Given the description of an element on the screen output the (x, y) to click on. 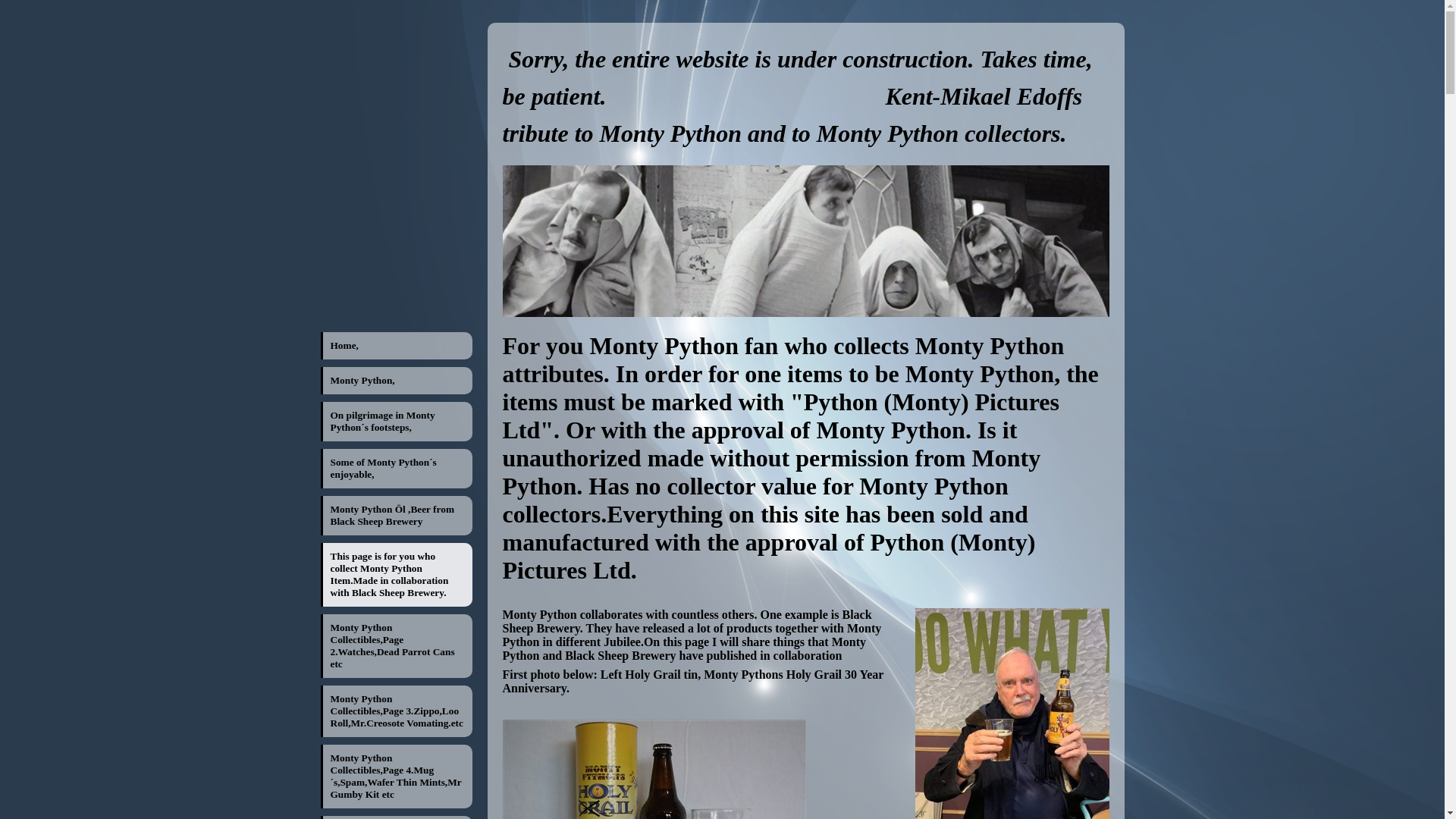
Monty Python, (397, 379)
Home, (397, 345)
Kent-Mikael Edoffs Homepage (805, 240)
